Given the description of an element on the screen output the (x, y) to click on. 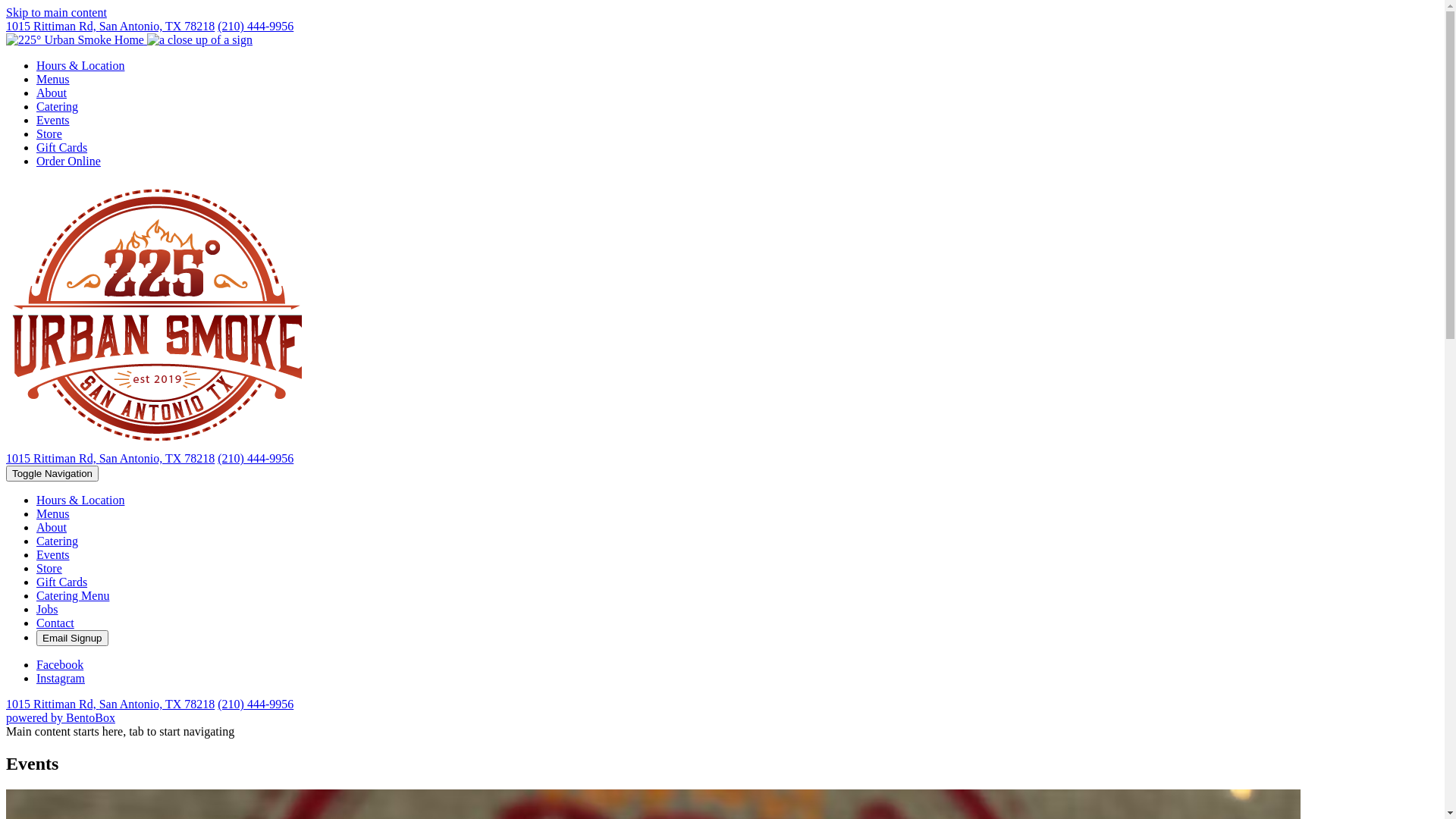
(210) 444-9956 Element type: text (255, 457)
Instagram Element type: text (60, 677)
About Element type: text (51, 92)
Hours & Location Element type: text (80, 499)
Toggle Navigation Element type: text (52, 473)
Events Element type: text (52, 119)
Gift Cards Element type: text (61, 147)
Menus Element type: text (52, 513)
Events Element type: text (52, 554)
(210) 444-9956 Element type: text (255, 703)
Email Signup Element type: text (72, 638)
Catering Element type: text (57, 540)
Facebook Element type: text (59, 664)
1015 Rittiman Rd, San Antonio, TX 78218 Element type: text (110, 703)
Jobs Element type: text (46, 608)
Catering Element type: text (57, 106)
Store Element type: text (49, 567)
Order Online Element type: text (68, 160)
(210) 444-9956 Element type: text (255, 25)
Store Element type: text (49, 133)
powered by BentoBox Element type: text (60, 717)
1015 Rittiman Rd, San Antonio, TX 78218 Element type: text (110, 25)
Catering Menu Element type: text (72, 595)
Gift Cards Element type: text (61, 581)
About Element type: text (51, 526)
Skip to main content Element type: text (56, 12)
Hours & Location Element type: text (80, 65)
Contact Element type: text (55, 622)
1015 Rittiman Rd, San Antonio, TX 78218 Element type: text (110, 457)
Menus Element type: text (52, 78)
